Given the description of an element on the screen output the (x, y) to click on. 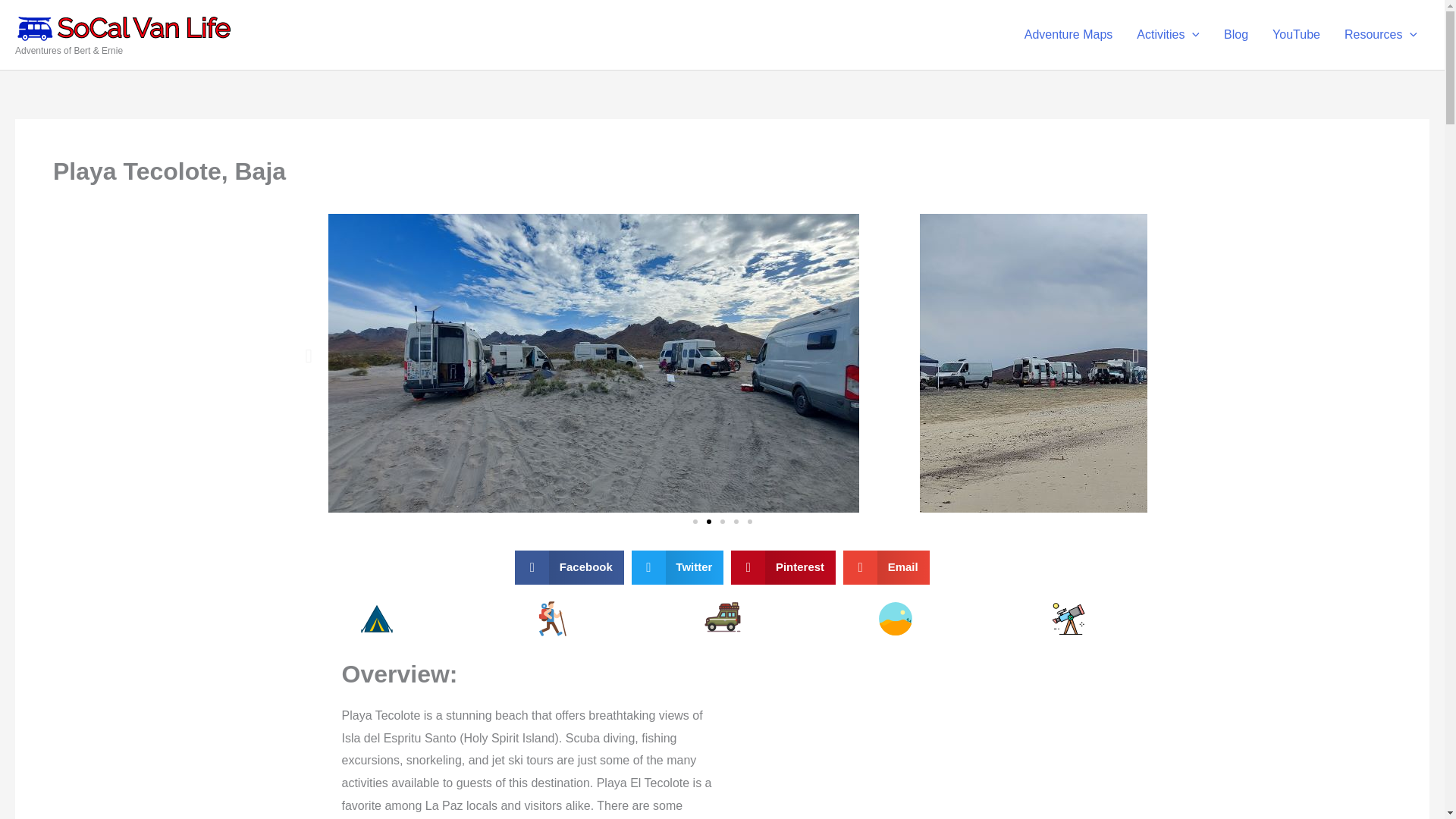
Adventure Maps (1068, 34)
Activities (1167, 34)
Blog (1235, 34)
Playa Tecolote (905, 739)
Resources (1380, 34)
YouTube (1296, 34)
